Given the description of an element on the screen output the (x, y) to click on. 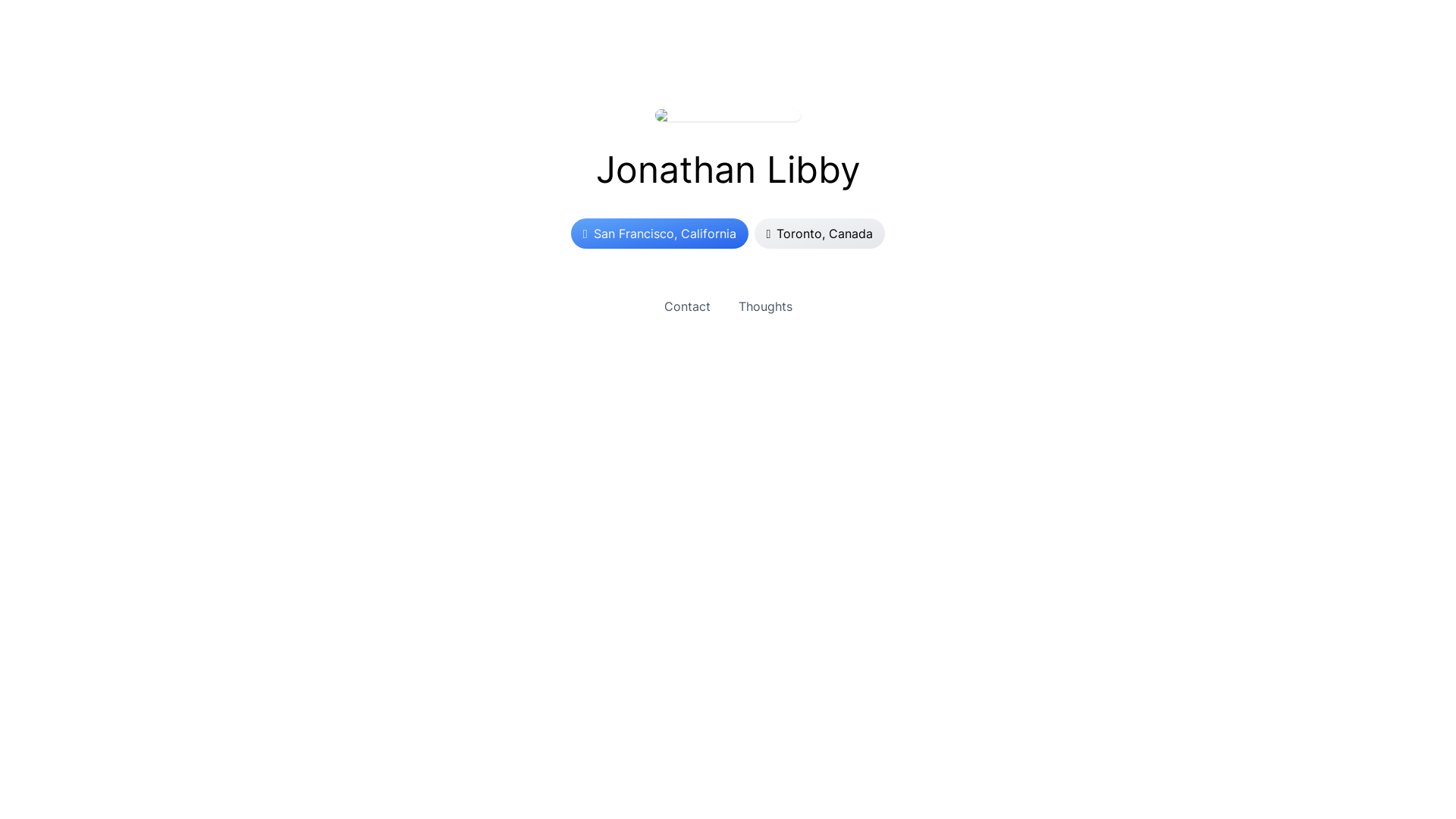
Contact Element type: text (687, 306)
Thoughts Element type: text (765, 306)
